Given the description of an element on the screen output the (x, y) to click on. 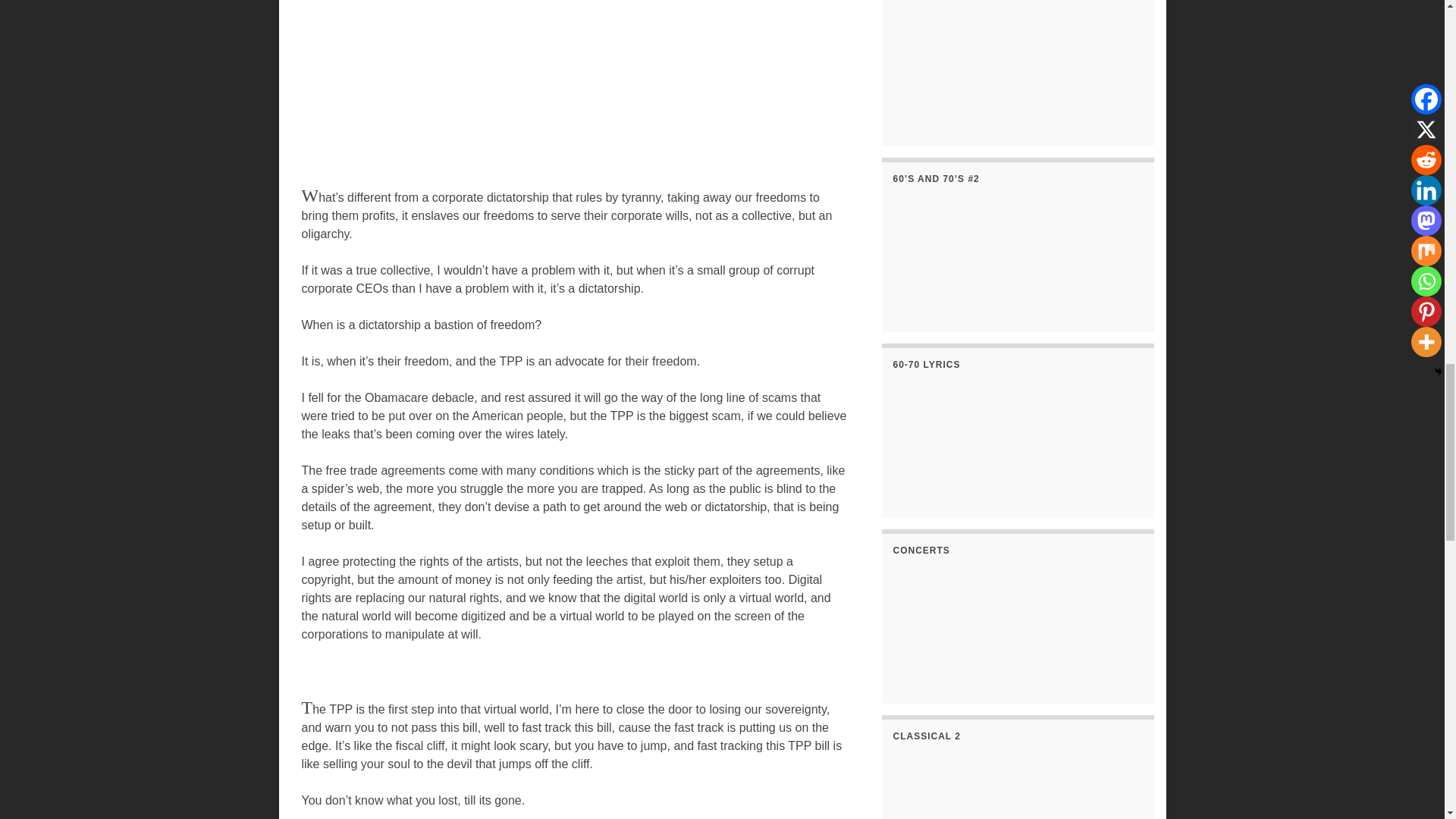
YouTube player (573, 65)
